Given the description of an element on the screen output the (x, y) to click on. 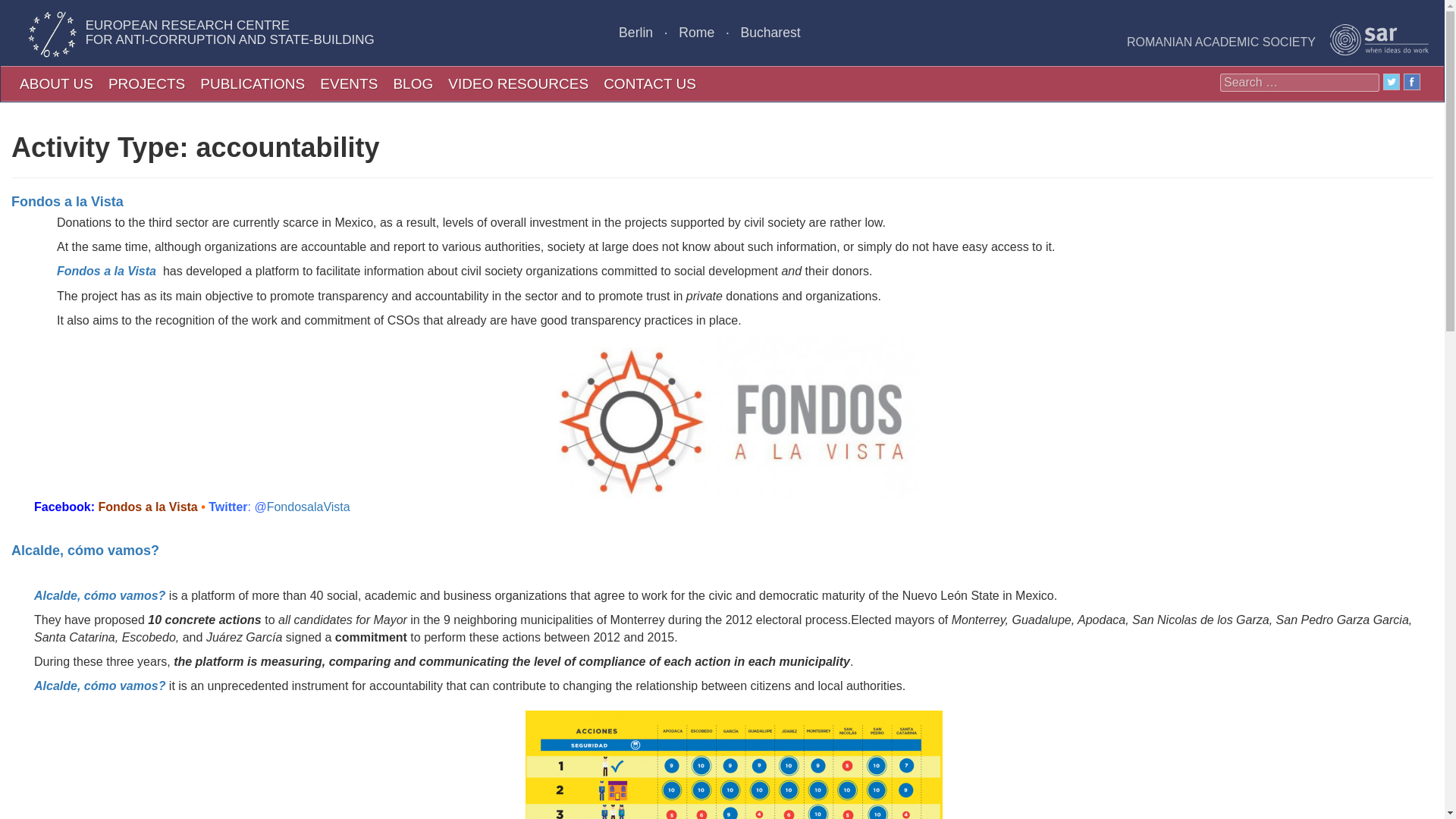
BLOG (412, 83)
Fondos a la Vista (67, 201)
CONTACT US (649, 83)
Fondos a la Vista (105, 270)
Search (25, 11)
EVENTS (348, 83)
VIDEO RESOURCES (518, 83)
PROJECTS (145, 83)
ROMANIAN ACADEMIC SOCIETY   (1278, 39)
